Given the description of an element on the screen output the (x, y) to click on. 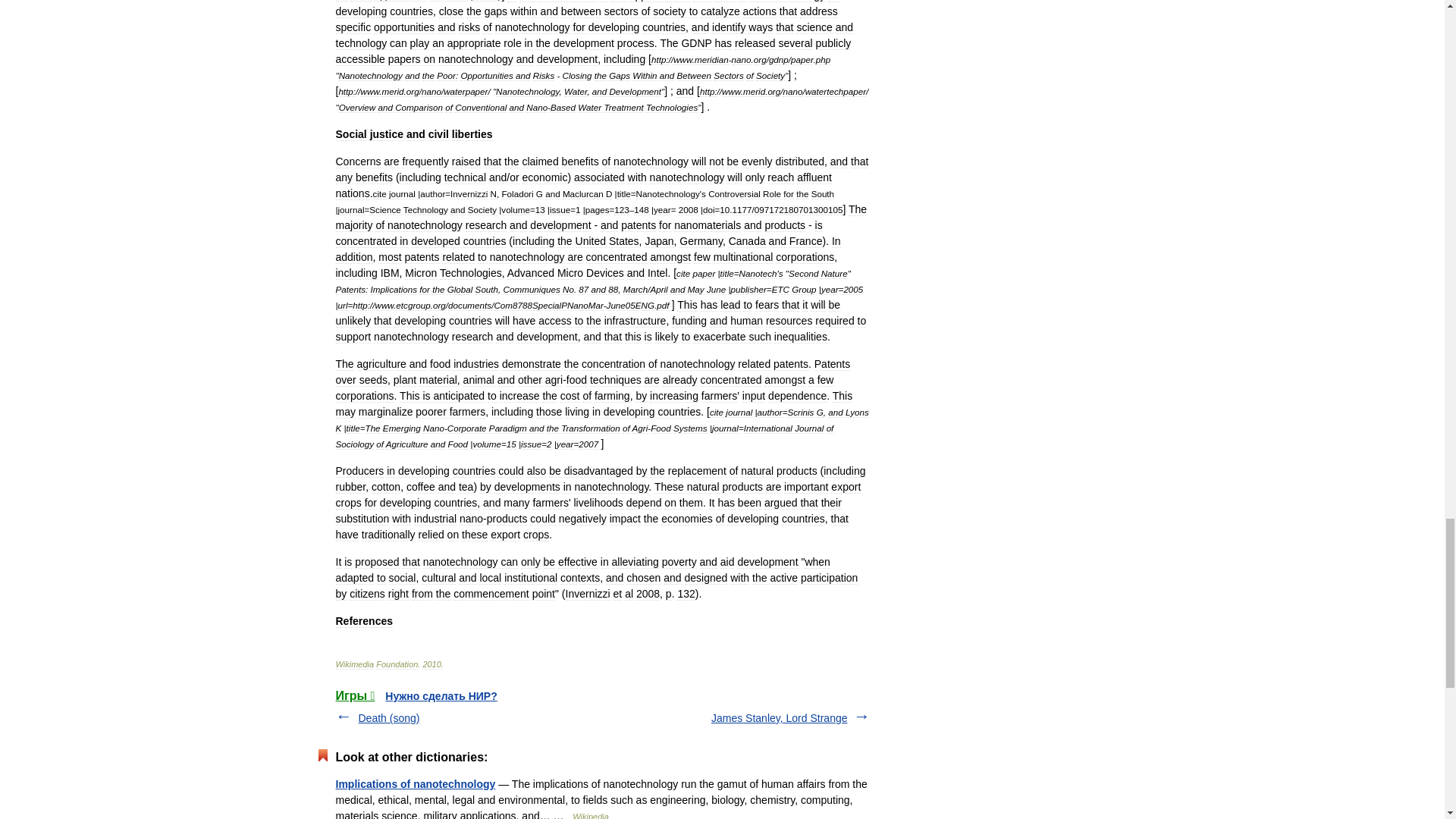
Implications of nanotechnology (414, 784)
James Stanley, Lord Strange (779, 717)
James Stanley, Lord Strange (779, 717)
